Given the description of an element on the screen output the (x, y) to click on. 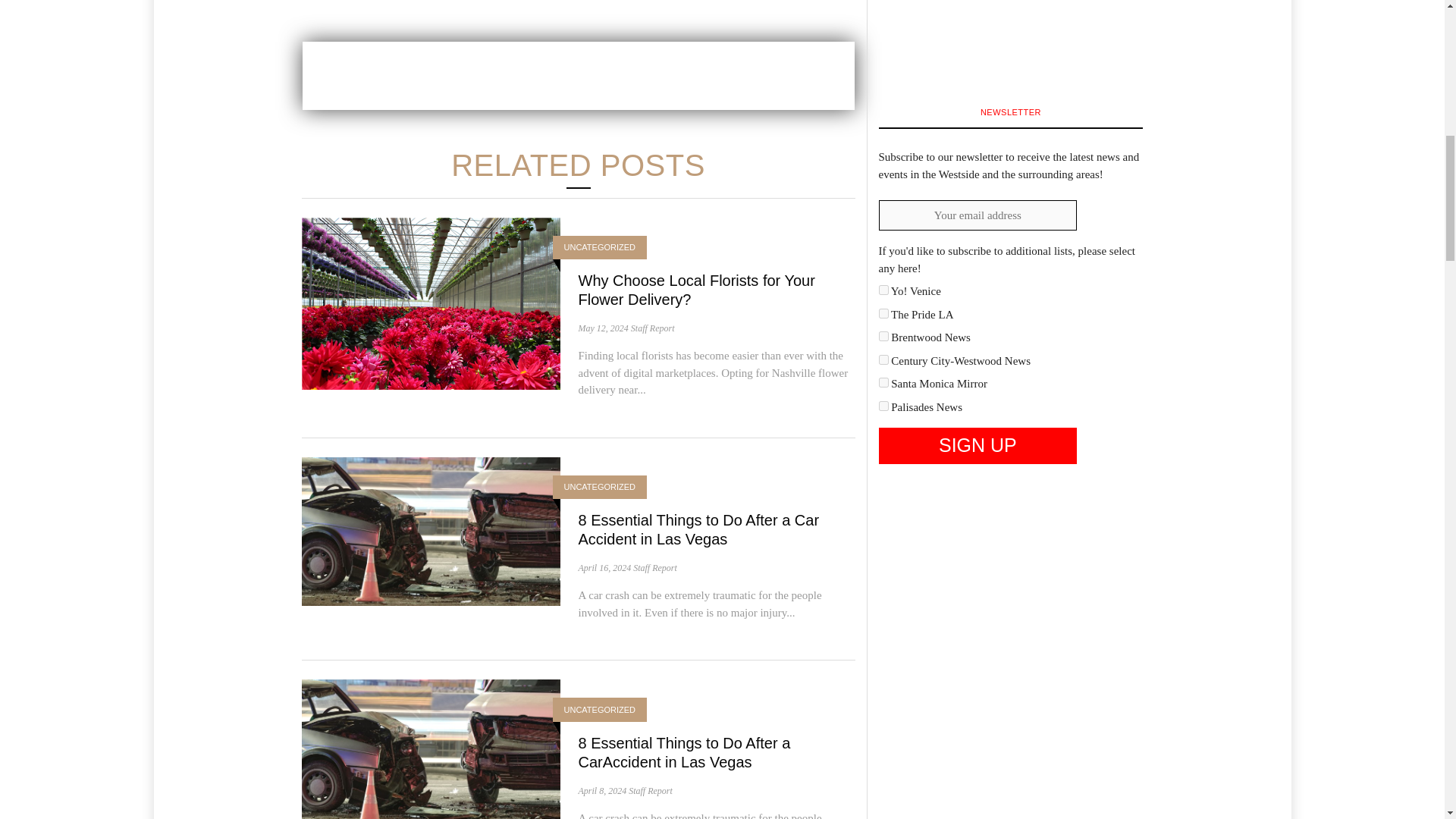
3rd party ad content (577, 75)
382281a661 (882, 336)
Why Choose Local Florists for Your Flower Delivery? (430, 302)
8 Essential Things to Do After a Car Accident in Las Vegas (698, 529)
8 Essential Things to Do After a CarAccident in Las Vegas (684, 752)
8 Essential Things to Do After a Car Accident in Las Vegas (430, 530)
Why Choose Local Florists for Your Flower Delivery? (695, 289)
Posts by Staff Report (652, 327)
Posts by Staff Report (650, 790)
8 Essential Things to Do After a Car Accident in Las Vegas (698, 529)
2c616d28b5 (882, 289)
Sign up (977, 445)
Why Choose Local Florists for Your Flower Delivery? (695, 289)
Posts by Staff Report (655, 567)
UNCATEGORIZED (600, 246)
